Given the description of an element on the screen output the (x, y) to click on. 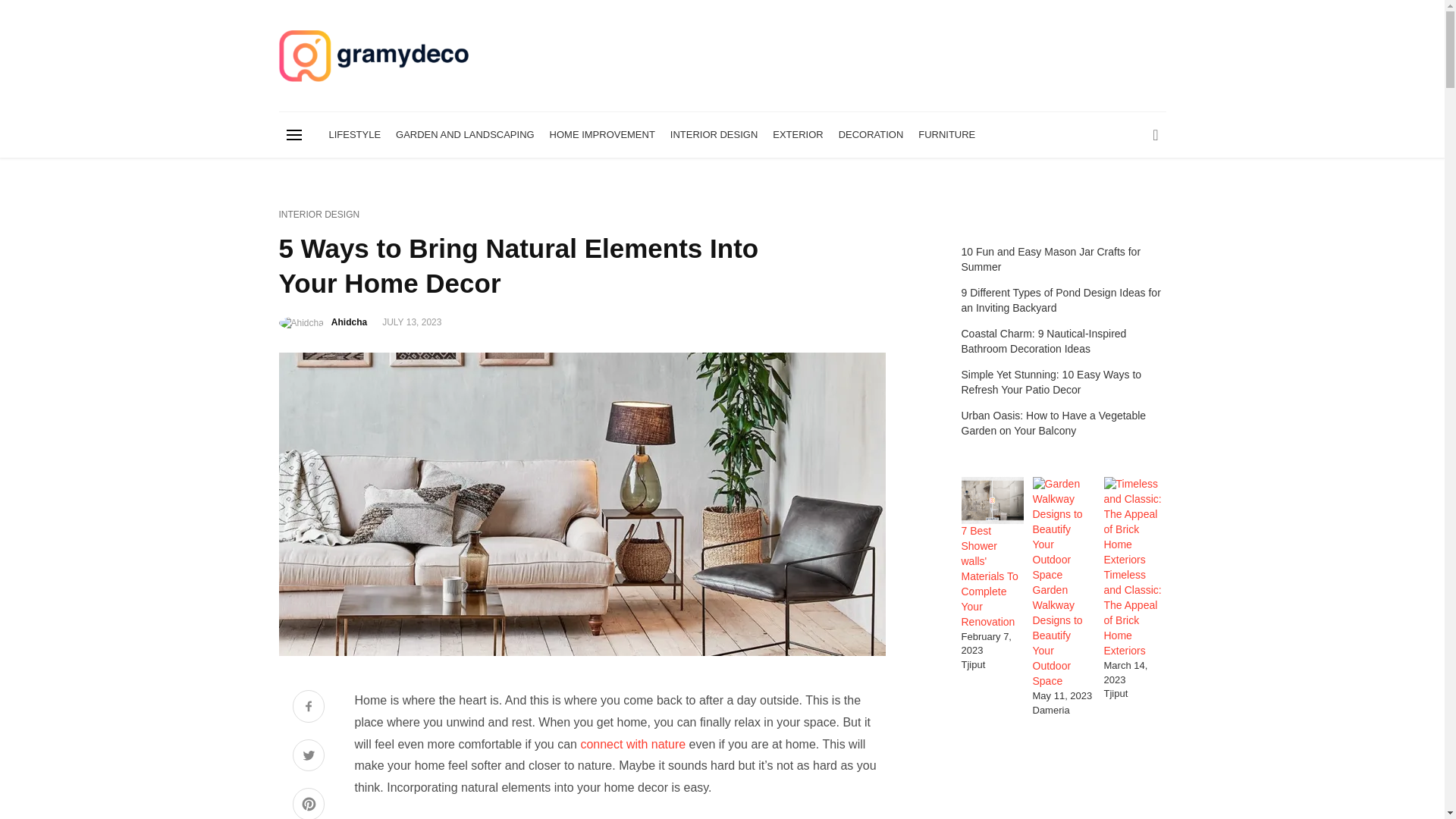
LIFESTYLE (354, 135)
GARDEN AND LANDSCAPING (464, 135)
HOME IMPROVEMENT (601, 135)
EXTERIOR (797, 135)
DECORATION (871, 135)
Share on Twitter (308, 757)
Share on Pinterest (308, 803)
INTERIOR DESIGN (713, 135)
Share on Facebook (308, 708)
Ahidcha (348, 321)
connect with nature (632, 744)
INTERIOR DESIGN (319, 214)
July 13, 2023 at 11:14 am (411, 321)
FURNITURE (946, 135)
